Given the description of an element on the screen output the (x, y) to click on. 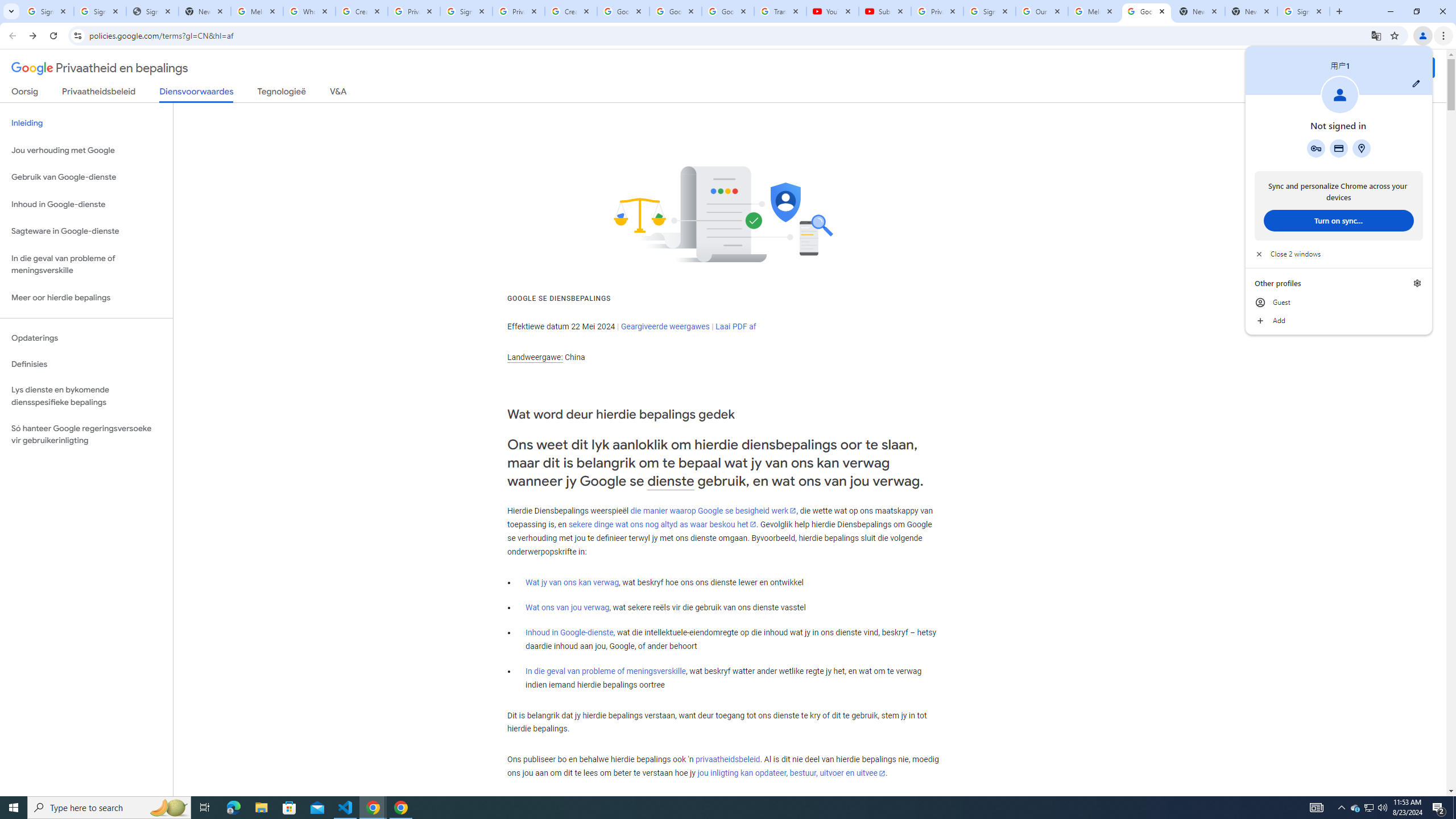
Sign in - Google Accounts (47, 11)
Type here to search (108, 807)
Search highlights icon opens search home window (167, 807)
Wat jy van ons kan verwag (571, 582)
Laai PDF af (735, 326)
Sign in - Google Accounts (1303, 11)
Privaatheidsbeleid (98, 93)
File Explorer (261, 807)
Wat ons van jou verwag (567, 606)
Close 2 windows (1368, 807)
Jou verhouding met Google (1338, 253)
